Given the description of an element on the screen output the (x, y) to click on. 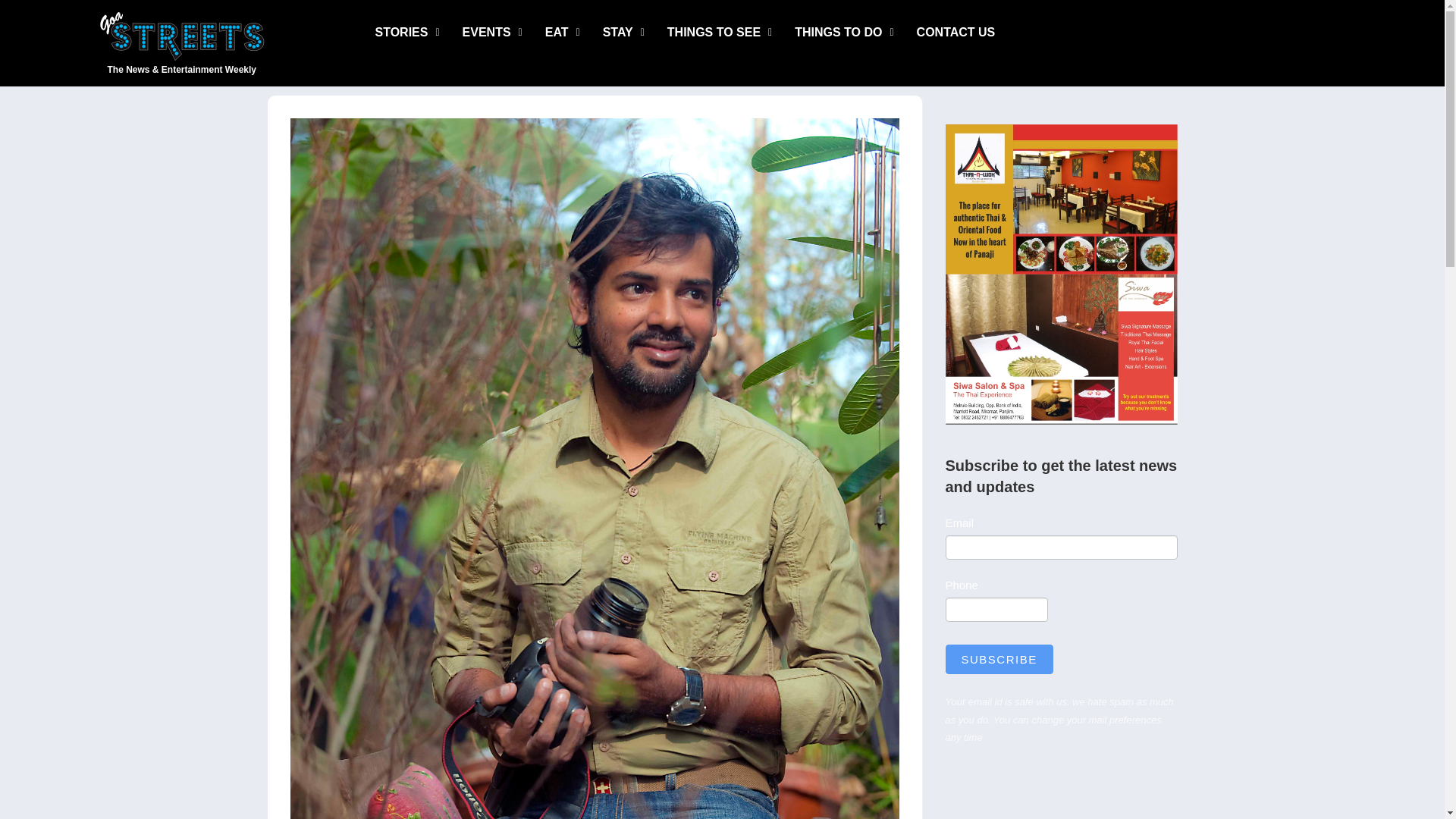
EVENTS (492, 32)
STORIES (407, 32)
EAT (562, 32)
STAY (623, 32)
